Given the description of an element on the screen output the (x, y) to click on. 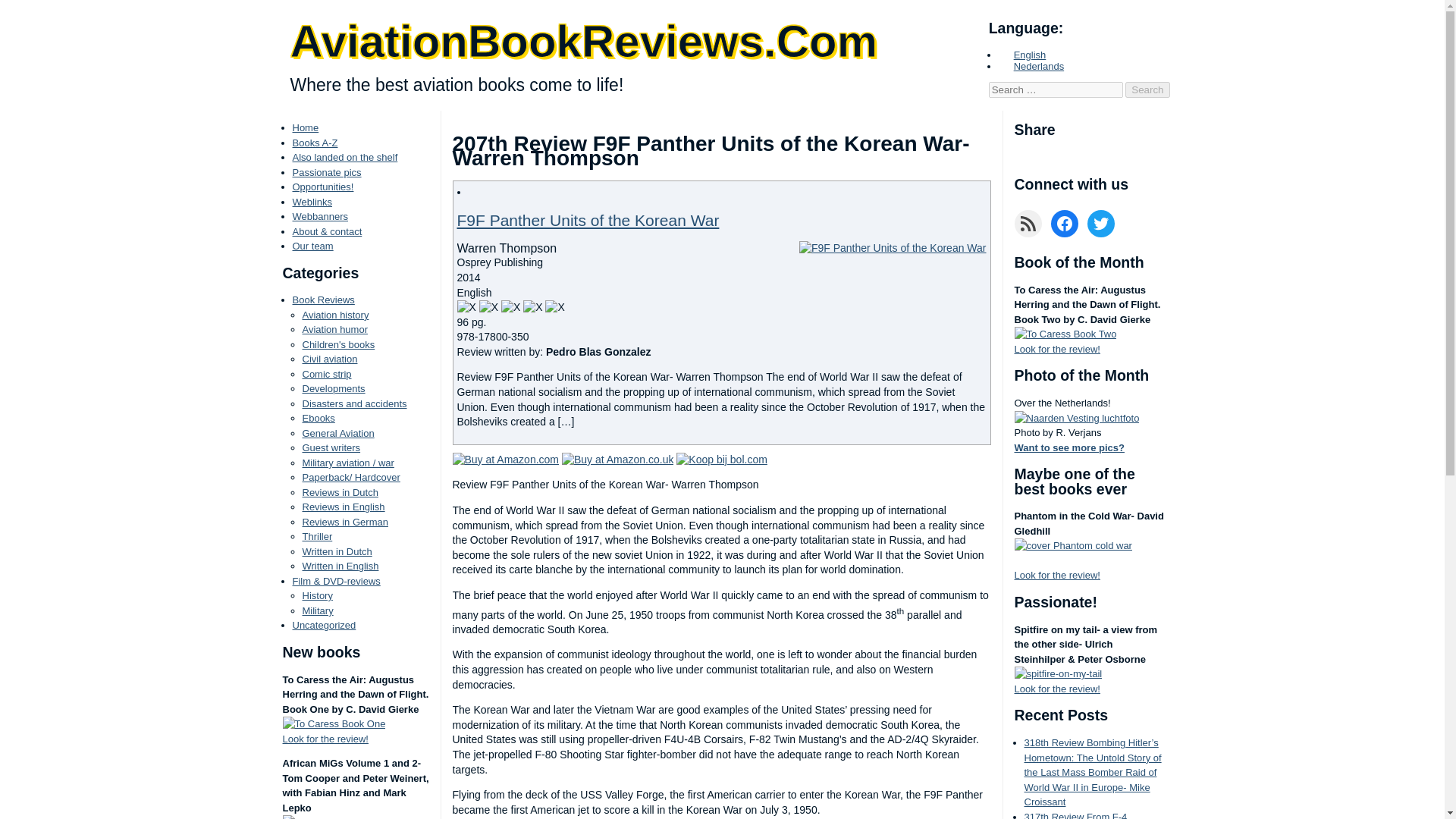
Weblinks (312, 201)
General Aviation (337, 432)
AviationBookReviews.Com (583, 40)
Aviation humor (333, 328)
Search (1147, 89)
Search (1147, 89)
Koop bij bol.com (722, 459)
Book Reviews (323, 299)
Guest writers (330, 447)
Children's books (337, 344)
Home (305, 127)
Comic strip (325, 374)
Written in English (339, 565)
Written in Dutch (336, 551)
Aviation history (334, 315)
